Given the description of an element on the screen output the (x, y) to click on. 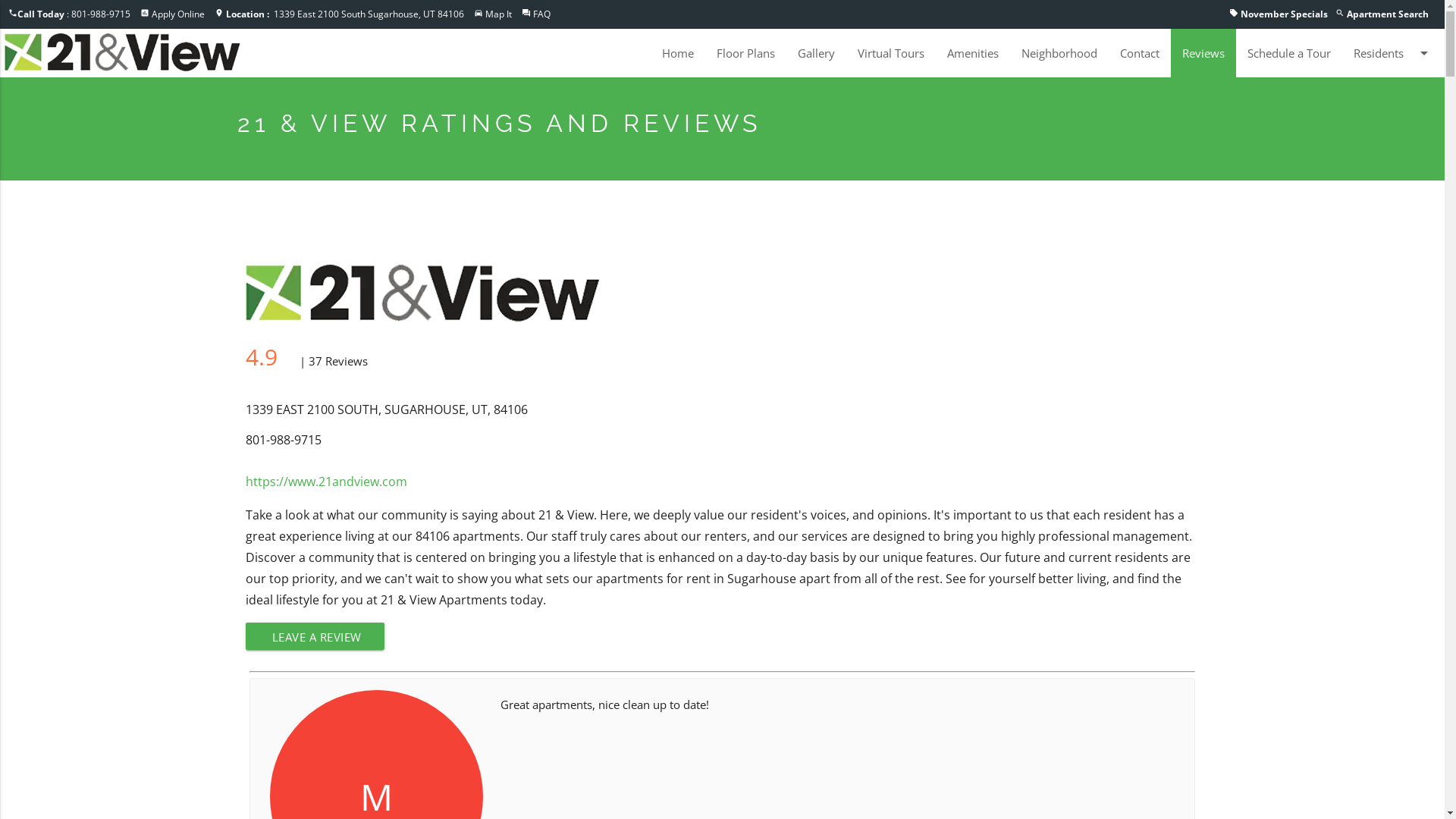
Virtual Tours Element type: text (890, 52)
Home Element type: text (677, 52)
Accessible One Page Element type: text (53, 8)
Map It Element type: text (498, 13)
Apply Online Element type: text (177, 13)
Location :  1339 East 2100 South Sugarhouse, UT 84106 Element type: text (344, 13)
 LEAVE A REVIEW Element type: text (314, 635)
Amenities Element type: text (972, 52)
https://www.21andview.com Element type: text (326, 481)
Apartment Search Element type: text (1387, 13)
November Specials Element type: text (1283, 13)
Neighborhood Element type: text (1059, 52)
Schedule a Tour Element type: text (1289, 52)
21 & View Apartments in Sugarhouse Element type: hover (122, 52)
Residents
arrow_drop_down Element type: text (1393, 52)
Gallery Element type: text (816, 52)
Floor Plans Element type: text (745, 52)
FAQ Element type: text (541, 13)
Contact Element type: text (1139, 52)
Reviews Element type: text (1203, 52)
